Given the description of an element on the screen output the (x, y) to click on. 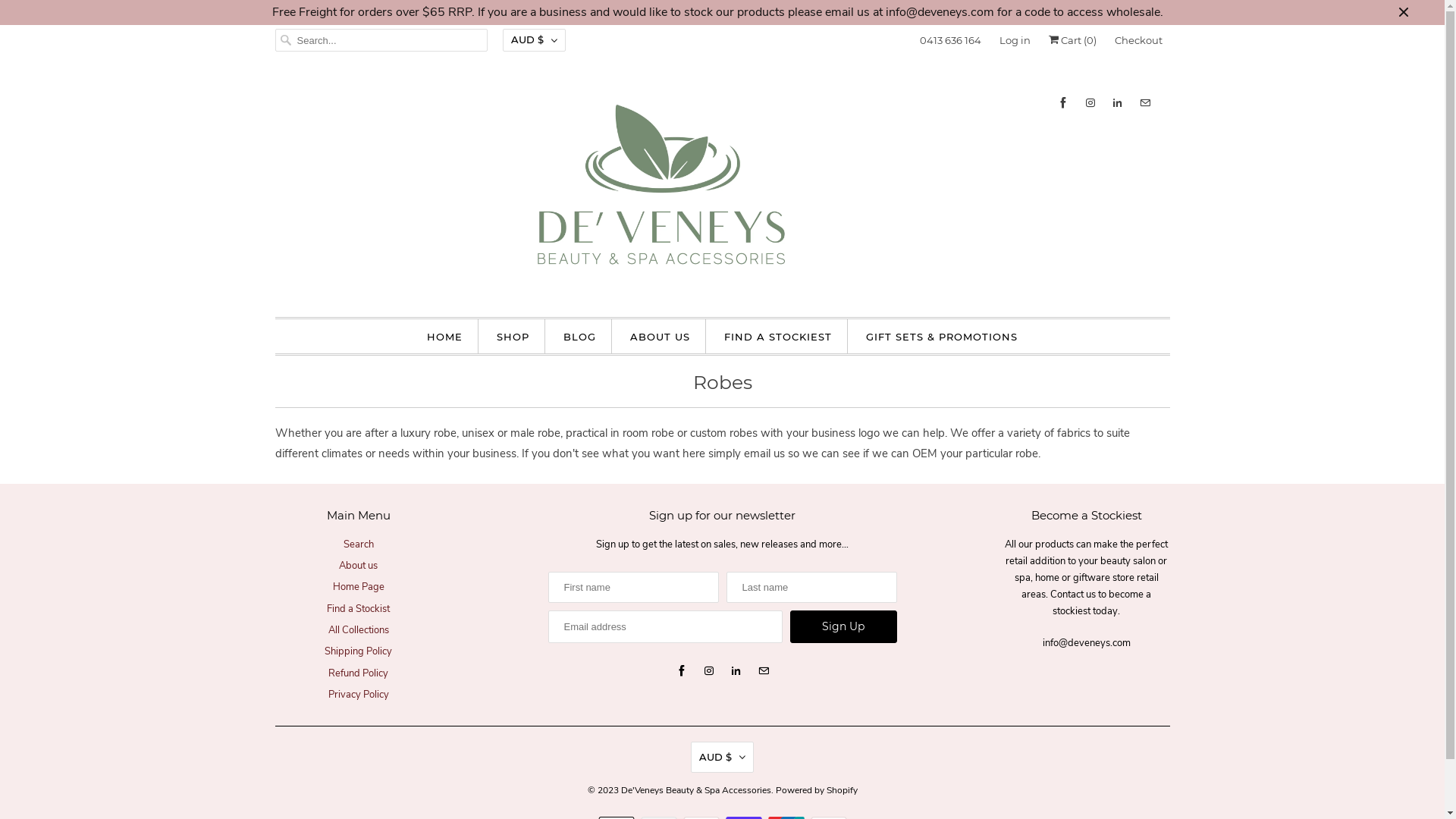
De'Veneys Beauty & Spa Accessories on Facebook Element type: hover (681, 670)
De'Veneys Beauty & Spa Accessories on Facebook Element type: hover (1062, 102)
FIND A STOCKIEST Element type: text (777, 336)
Powered by Shopify Element type: text (815, 785)
De'Veneys Beauty & Spa Accessories on Instagram Element type: hover (1089, 102)
SHOP Element type: text (512, 336)
Privacy Policy Element type: text (357, 694)
De'Veneys Beauty & Spa Accessories Element type: hover (721, 189)
De'Veneys Beauty & Spa Accessories on Instagram Element type: hover (708, 670)
Refund Policy Element type: text (358, 673)
De'Veneys Beauty & Spa Accessories Element type: text (695, 785)
Find a Stockist Element type: text (357, 608)
BLOG Element type: text (579, 336)
AUD $ Element type: text (721, 757)
AUD $ Element type: text (533, 39)
0413 636 164 Element type: text (949, 39)
GIFT SETS & PROMOTIONS Element type: text (941, 336)
ABOUT US Element type: text (660, 336)
Cart (0) Element type: text (1071, 39)
Sign Up Element type: text (843, 626)
Email De'Veneys Beauty & Spa Accessories Element type: hover (763, 670)
De'Veneys Beauty & Spa Accessories on LinkedIn Element type: hover (1116, 102)
Email De'Veneys Beauty & Spa Accessories Element type: hover (1144, 102)
Log in Element type: text (1014, 39)
HOME Element type: text (444, 336)
Home Page Element type: text (357, 586)
All Collections Element type: text (357, 630)
Checkout Element type: text (1138, 39)
Search Element type: text (357, 543)
Shipping Policy Element type: text (358, 651)
De'Veneys Beauty & Spa Accessories on LinkedIn Element type: hover (736, 670)
About us Element type: text (357, 565)
